Given the description of an element on the screen output the (x, y) to click on. 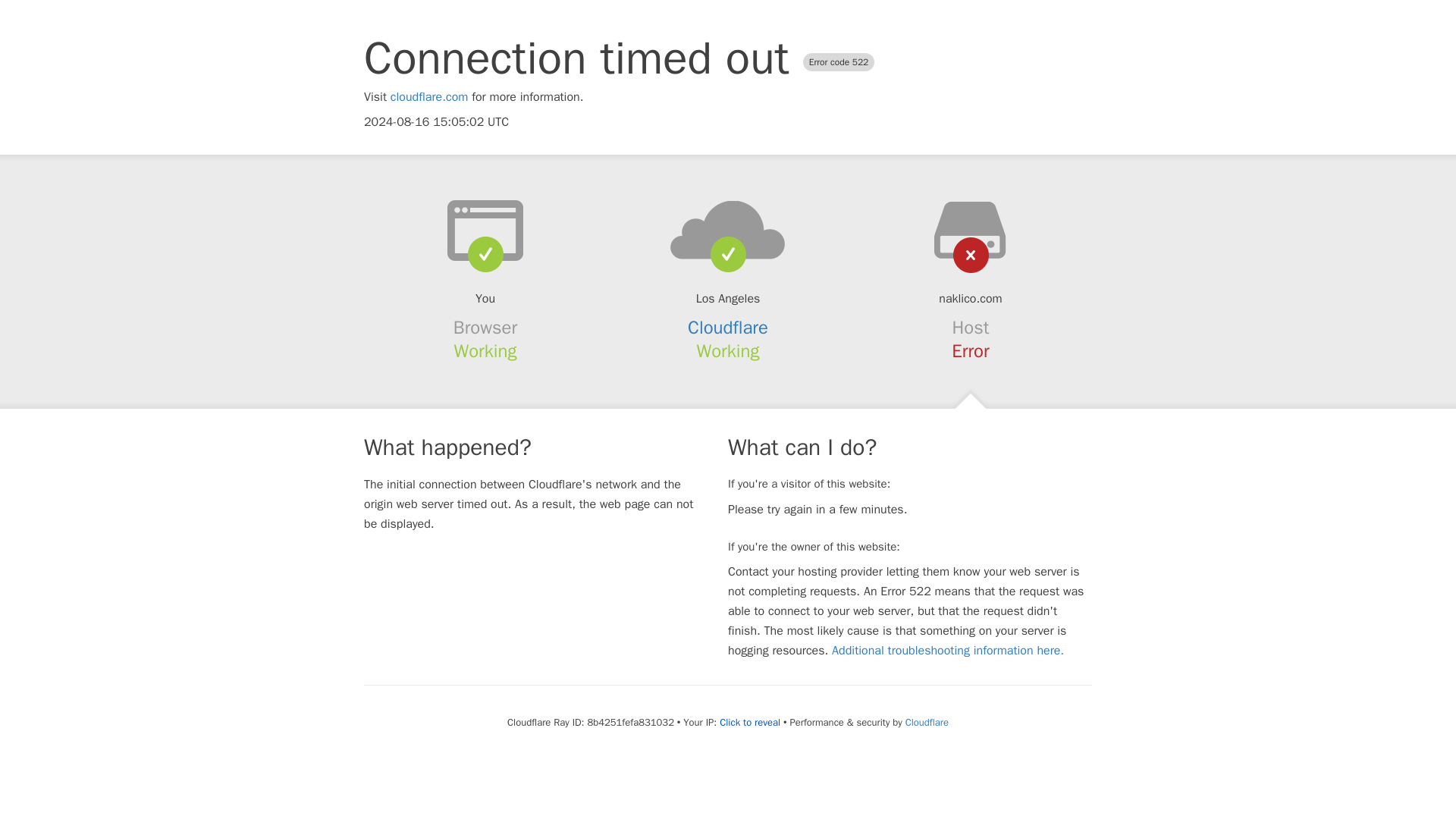
Click to reveal (749, 722)
Cloudflare (927, 721)
Additional troubleshooting information here. (947, 650)
cloudflare.com (429, 96)
Cloudflare (727, 327)
